Given the description of an element on the screen output the (x, y) to click on. 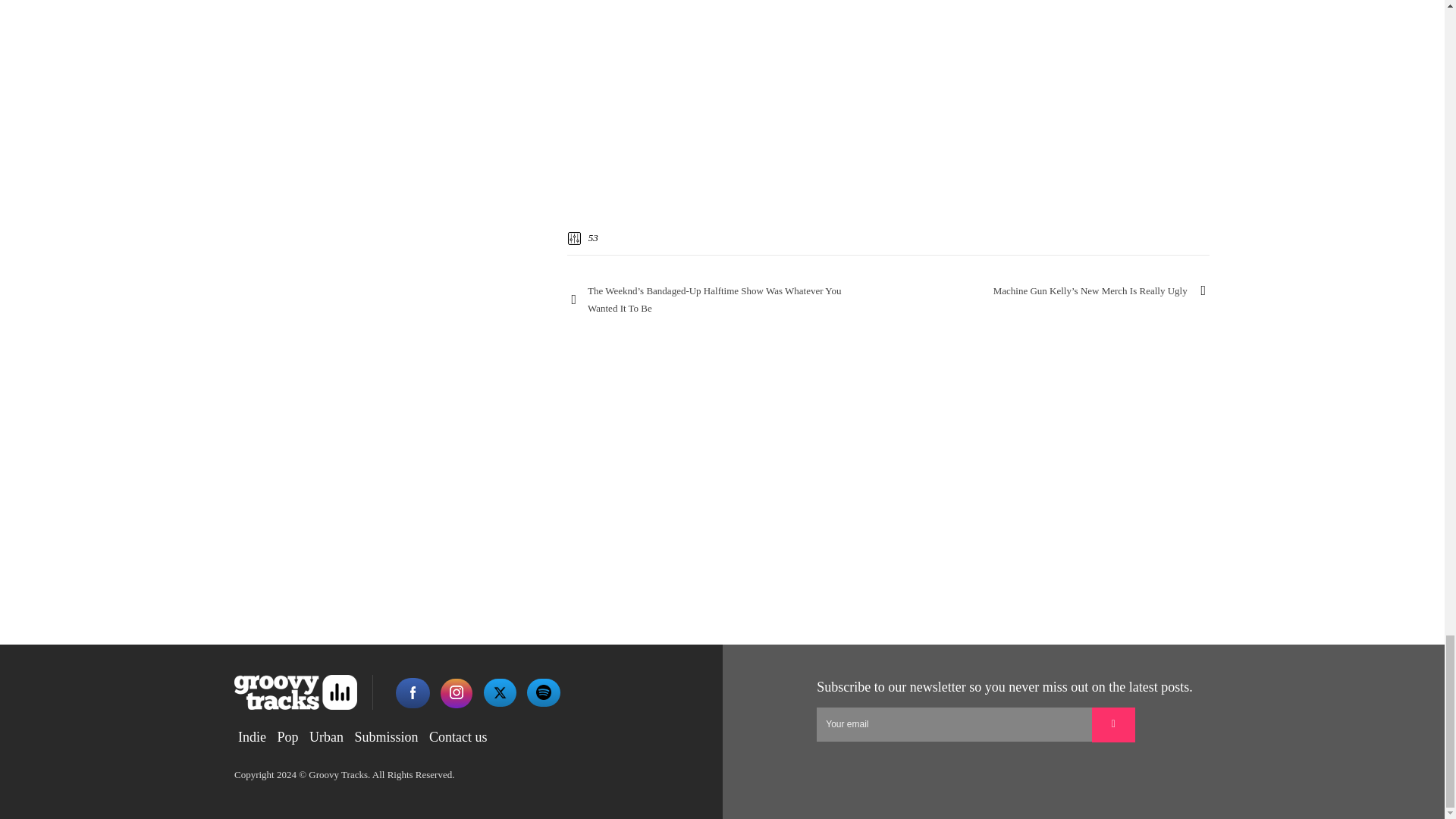
Pop (287, 736)
Indie (252, 736)
